Given the description of an element on the screen output the (x, y) to click on. 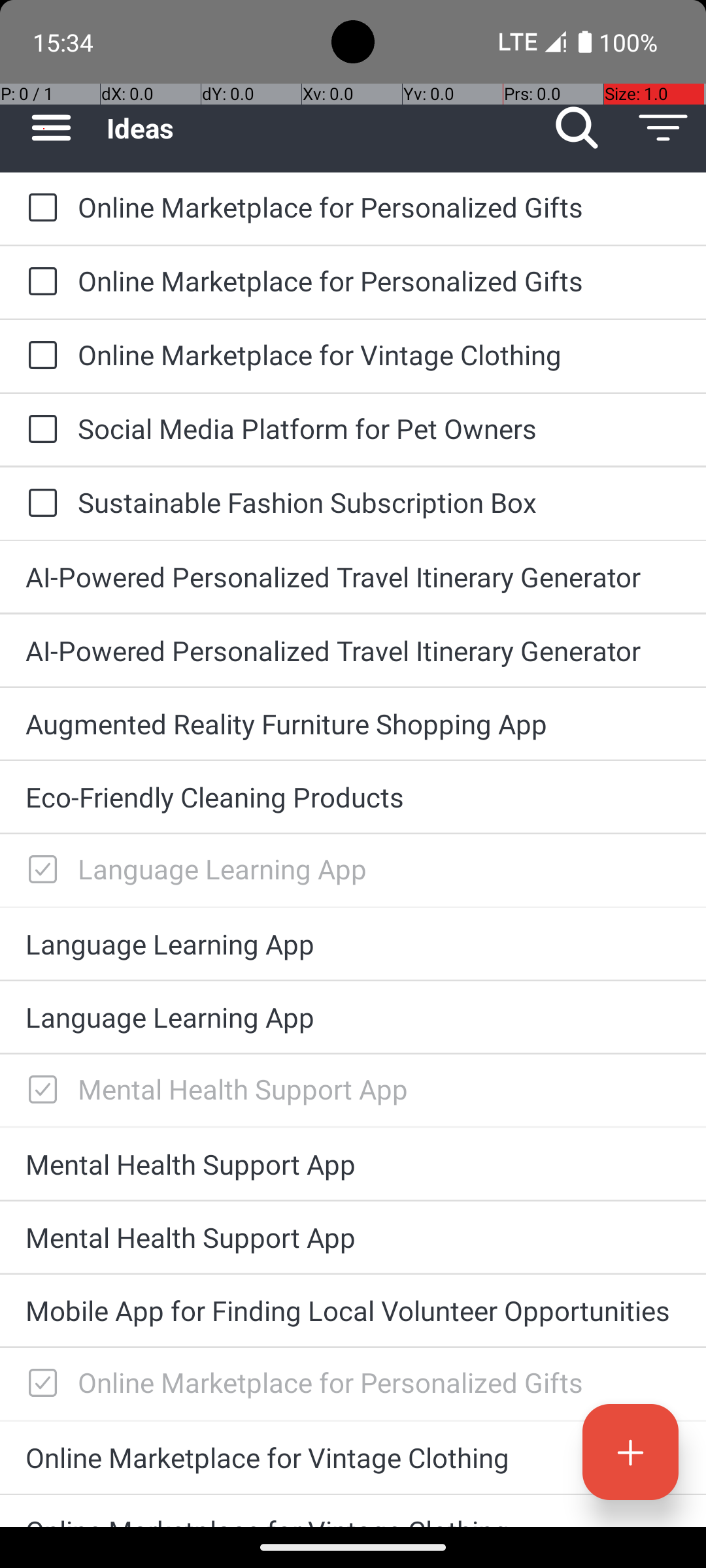
to-do: Online Marketplace for Personalized Gifts Element type: android.widget.CheckBox (38, 208)
Online Marketplace for Personalized Gifts Element type: android.widget.TextView (378, 206)
to-do: Online Marketplace for Vintage Clothing Element type: android.widget.CheckBox (38, 356)
Online Marketplace for Vintage Clothing Element type: android.widget.TextView (378, 354)
to-do: Social Media Platform for Pet Owners Element type: android.widget.CheckBox (38, 429)
Social Media Platform for Pet Owners Element type: android.widget.TextView (378, 427)
to-do: Sustainable Fashion Subscription Box Element type: android.widget.CheckBox (38, 503)
Sustainable Fashion Subscription Box Element type: android.widget.TextView (378, 501)
AI-Powered Personalized Travel Itinerary Generator Element type: android.widget.TextView (352, 576)
Augmented Reality Furniture Shopping App Element type: android.widget.TextView (352, 723)
to-do: Language Learning App Element type: android.widget.CheckBox (38, 870)
Language Learning App Element type: android.widget.TextView (378, 868)
to-do: Mental Health Support App Element type: android.widget.CheckBox (38, 1090)
Mental Health Support App Element type: android.widget.TextView (378, 1088)
Mobile App for Finding Local Volunteer Opportunities Element type: android.widget.TextView (352, 1309)
